Given the description of an element on the screen output the (x, y) to click on. 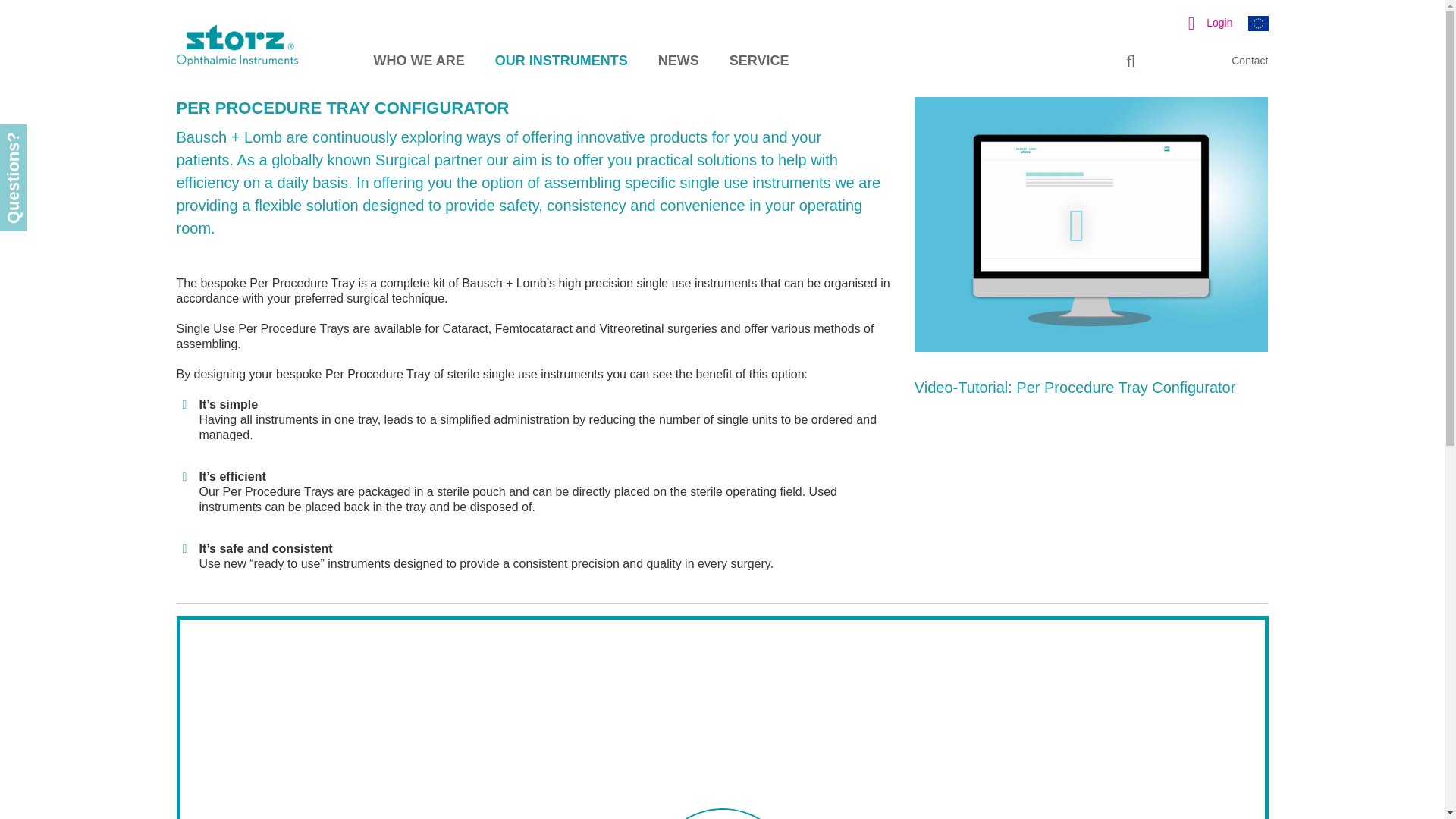
OUR INSTRUMENTS (576, 60)
SERVICE (774, 60)
Login (1203, 22)
NEWS (693, 60)
WHO WE ARE (433, 60)
News (693, 60)
Contact (1249, 60)
Service (774, 60)
Contact (1249, 60)
Home (259, 62)
